Given the description of an element on the screen output the (x, y) to click on. 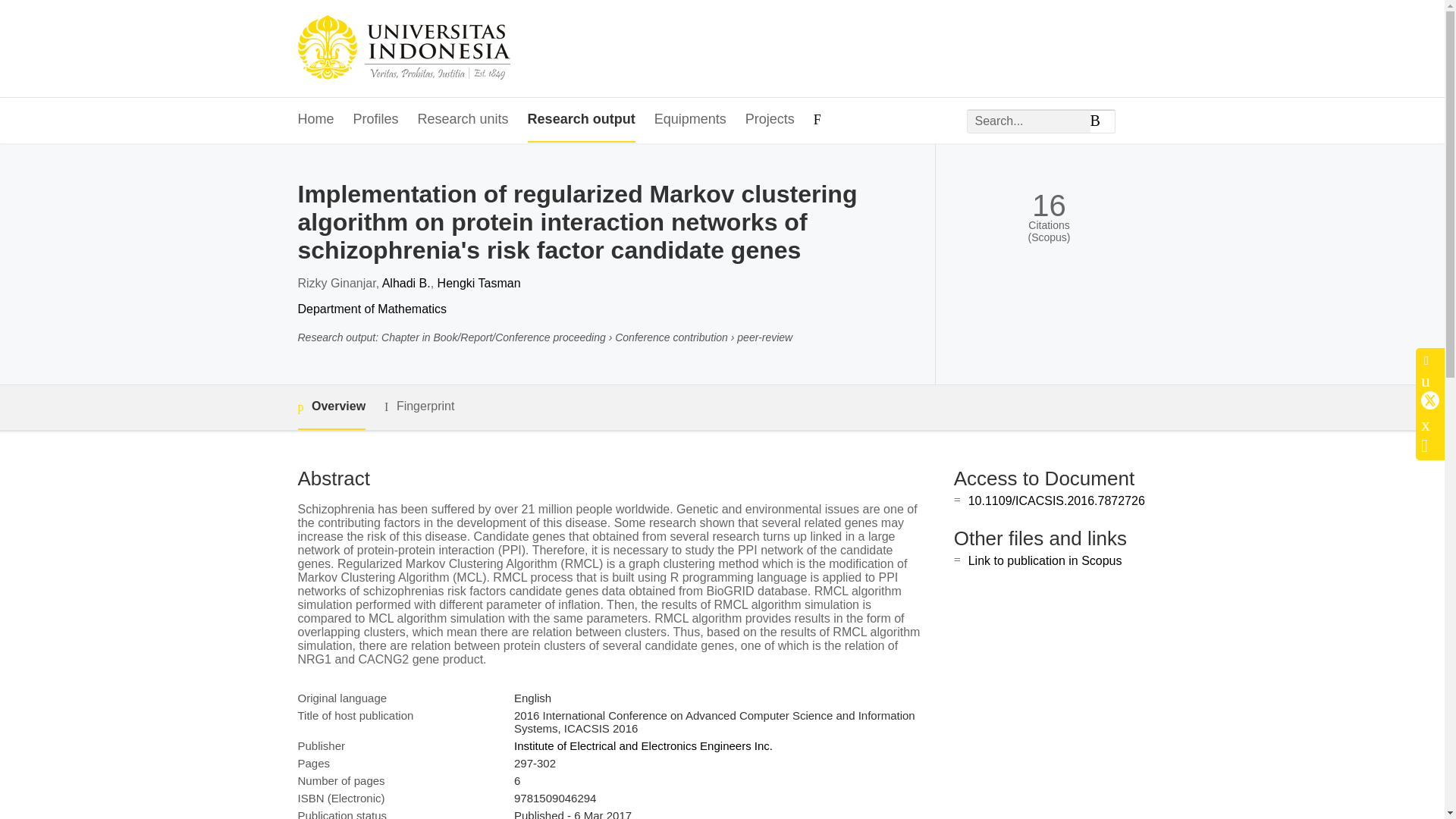
Universitas Indonesia Home (403, 48)
Research units (462, 119)
Projects (769, 119)
Overview (331, 406)
Hengki Tasman (479, 282)
Institute of Electrical and Electronics Engineers Inc. (643, 745)
Fingerprint (419, 406)
Link to publication in Scopus (1045, 560)
Research output (580, 119)
Profiles (375, 119)
Alhadi B. (405, 282)
Equipments (689, 119)
Department of Mathematics (371, 308)
